Given the description of an element on the screen output the (x, y) to click on. 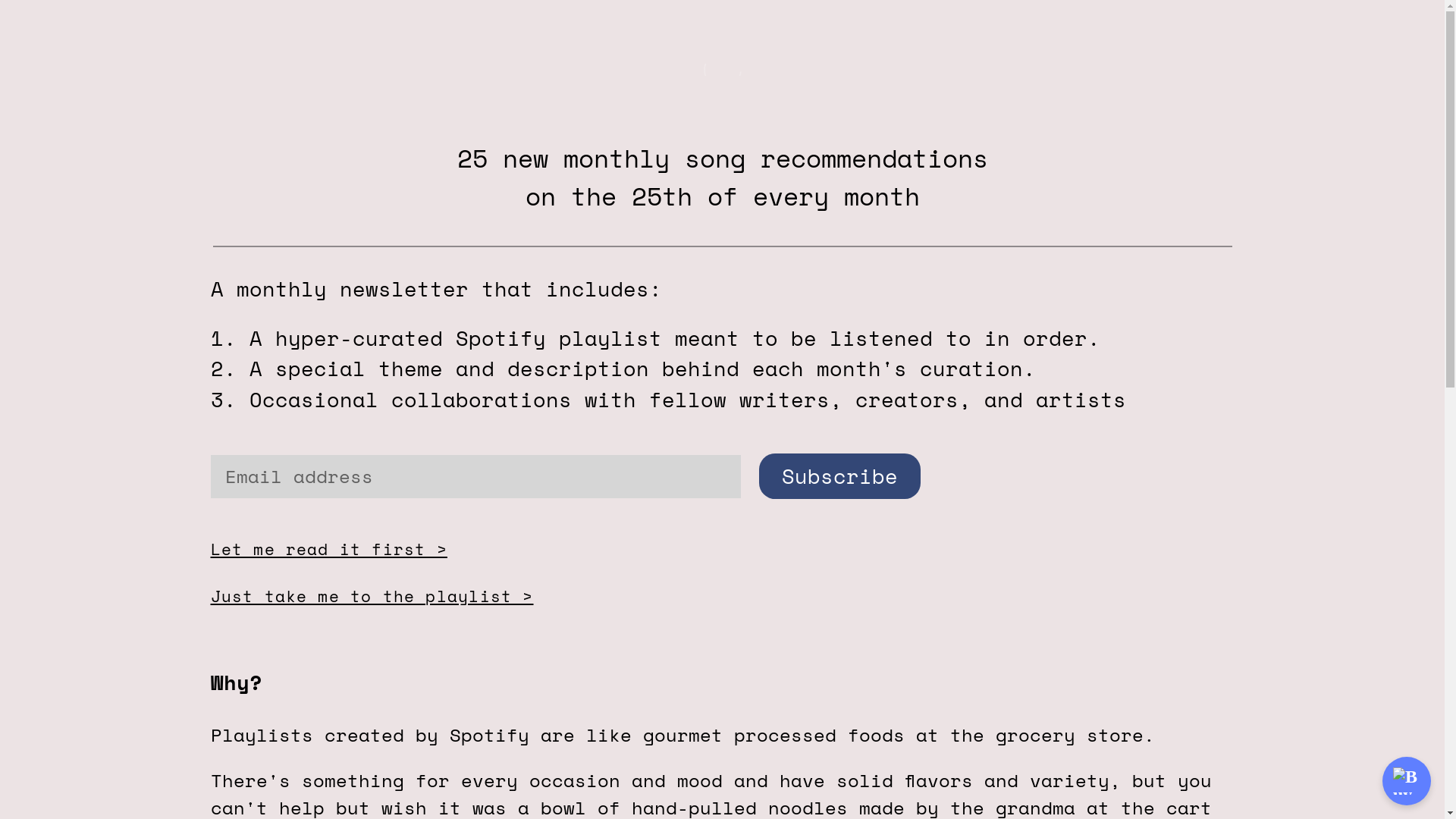
Let me read it first > Element type: text (328, 548)
Subscribe Element type: text (838, 475)
Just take me to the playlist > Element type: text (371, 595)
